Given the description of an element on the screen output the (x, y) to click on. 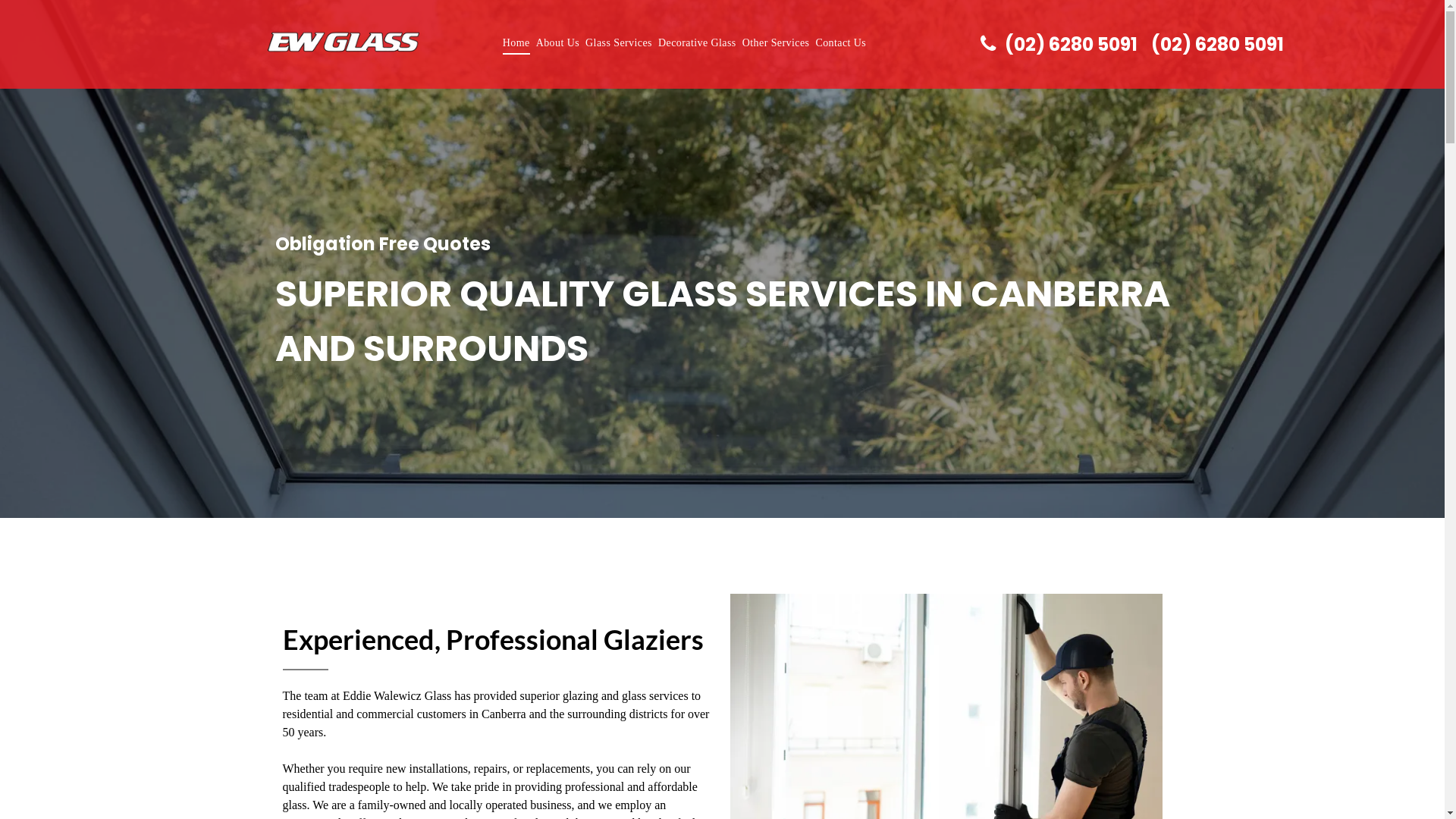
Decorative Glass Element type: text (697, 42)
Glass Services Element type: text (618, 42)
Contact Us Element type: text (840, 42)
(02) 6280 5091 (02) 6280 5091 Element type: text (1063, 43)
EW GLASS Element type: hover (342, 41)
Other Services Element type: text (775, 42)
Home Element type: text (516, 42)
About Us Element type: text (557, 42)
